Given the description of an element on the screen output the (x, y) to click on. 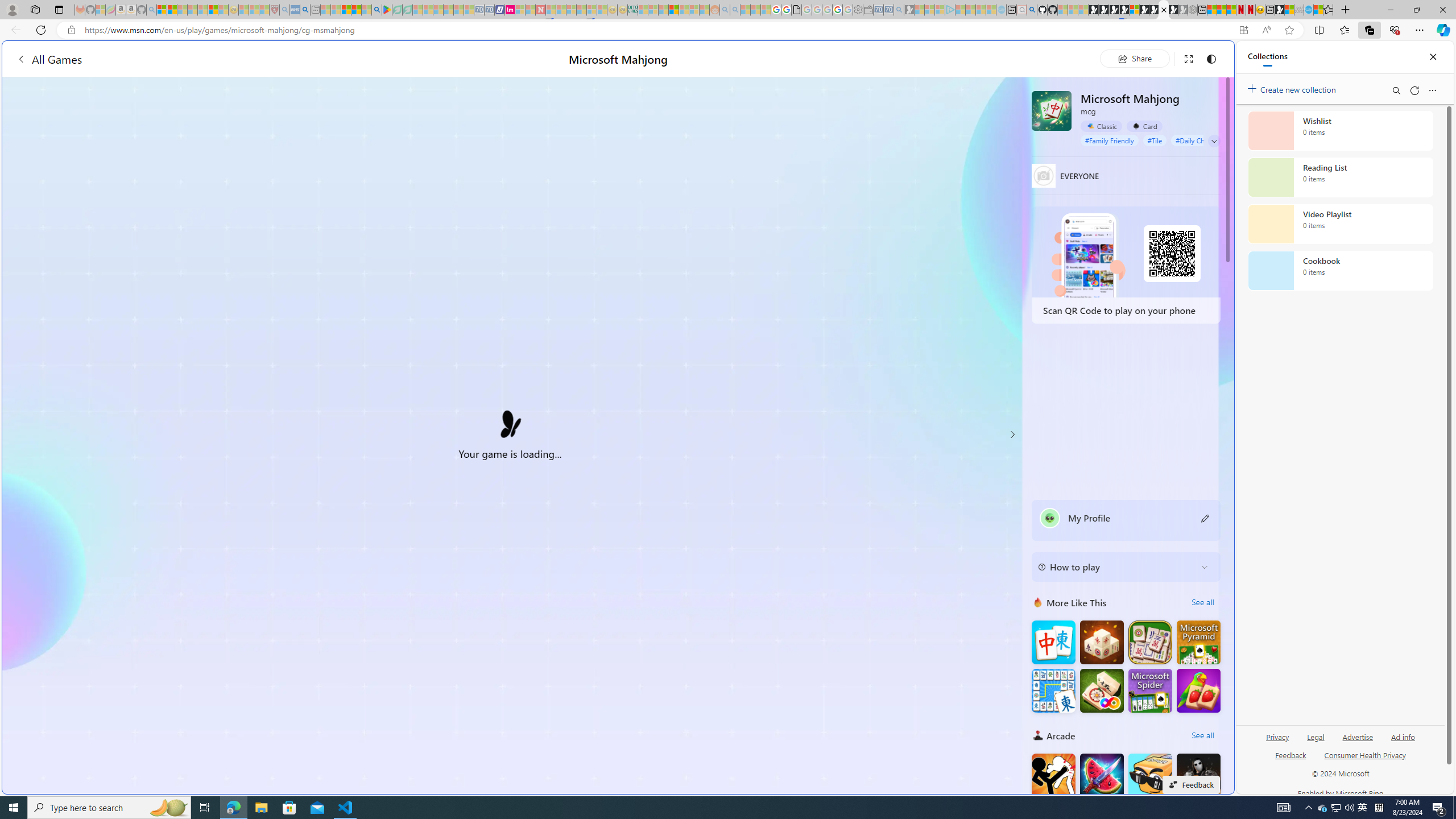
Share (1134, 58)
How to play (1116, 566)
Frequently visited (965, 151)
#Family Friendly (1109, 140)
More Like This (1037, 602)
Reading List collection, 0 items (1339, 177)
